Given the description of an element on the screen output the (x, y) to click on. 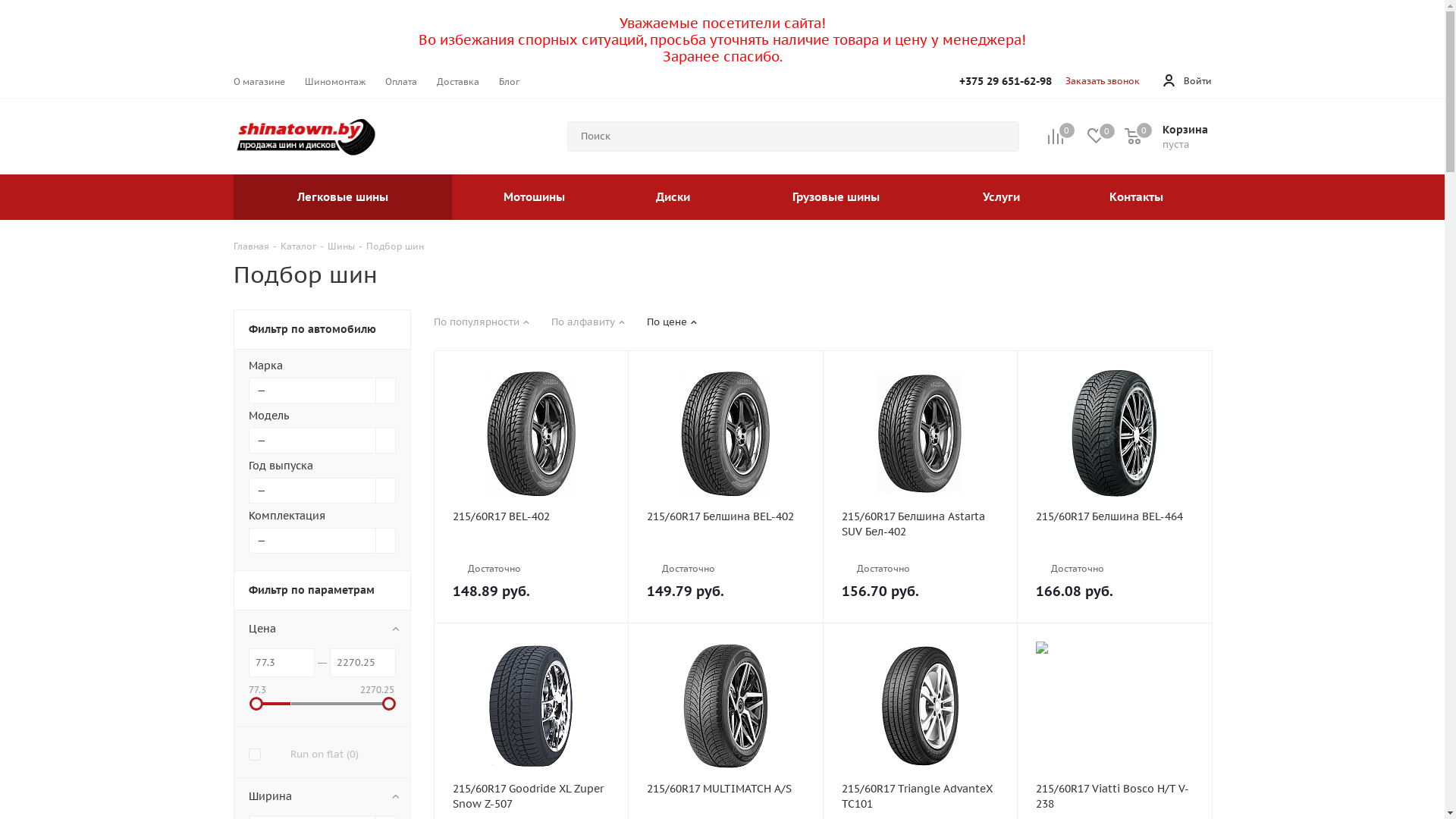
5 Element type: hover (1086, 550)
1 Element type: hover (652, 550)
215/60R17 BEL-402 Element type: text (530, 516)
215/60R17 BEL-402 Element type: hover (530, 433)
3 Element type: hover (480, 550)
3 Element type: hover (869, 550)
215/60R17 Triangle AdvanteX TC101 Element type: text (920, 796)
2 Element type: hover (857, 550)
1 Element type: hover (847, 550)
215/60R17 MULTIMATCH A/S Element type: hover (725, 705)
4 Element type: hover (686, 550)
2 Element type: hover (1052, 550)
215/60R17 Goodride XL Zuper Snow Z-507 Element type: text (530, 796)
215/60R17 Goodride XL Zuper Snow Z-507 Element type: hover (530, 705)
4 Element type: hover (1075, 550)
4 Element type: hover (880, 550)
215/60R17 Triangle AdvanteX TC101 Element type: hover (919, 705)
1 Element type: hover (457, 550)
2 Element type: hover (469, 550)
3 Element type: hover (1064, 550)
5 Element type: hover (892, 550)
215/60R17 MULTIMATCH A/S Element type: text (725, 788)
Y Element type: text (4, 4)
+375 29 651-62-98 Element type: text (1004, 80)
2 Element type: hover (663, 550)
5 Element type: hover (697, 550)
1 Element type: hover (1041, 550)
5 Element type: hover (502, 550)
3 Element type: hover (674, 550)
215/60R17 Viatti Bosco H/T V-238 Element type: hover (1114, 705)
4 Element type: hover (492, 550)
215/60R17 Viatti Bosco H/T V-238 Element type: text (1114, 796)
